Given the description of an element on the screen output the (x, y) to click on. 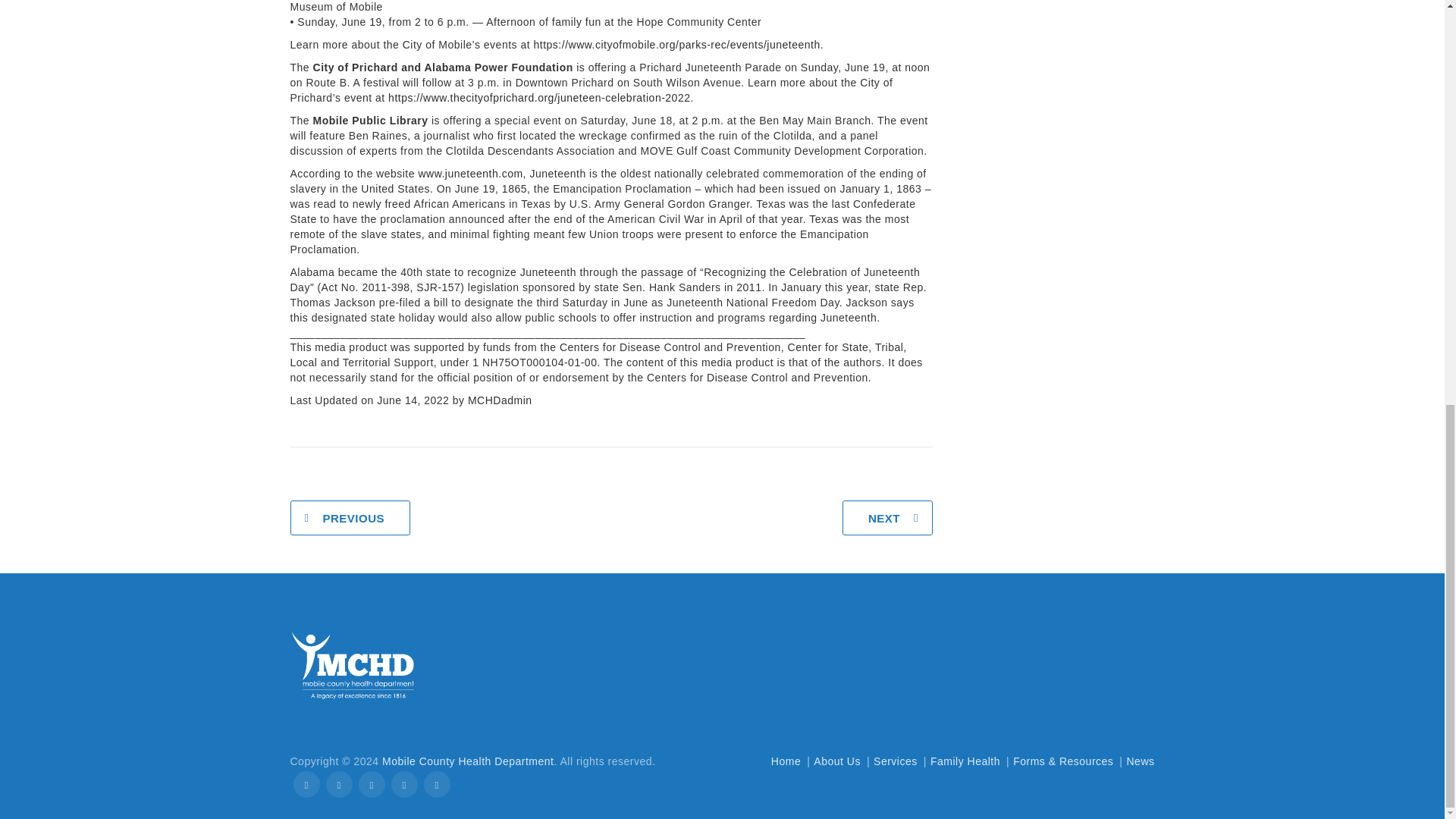
www.juneteenth.com (469, 173)
